Given the description of an element on the screen output the (x, y) to click on. 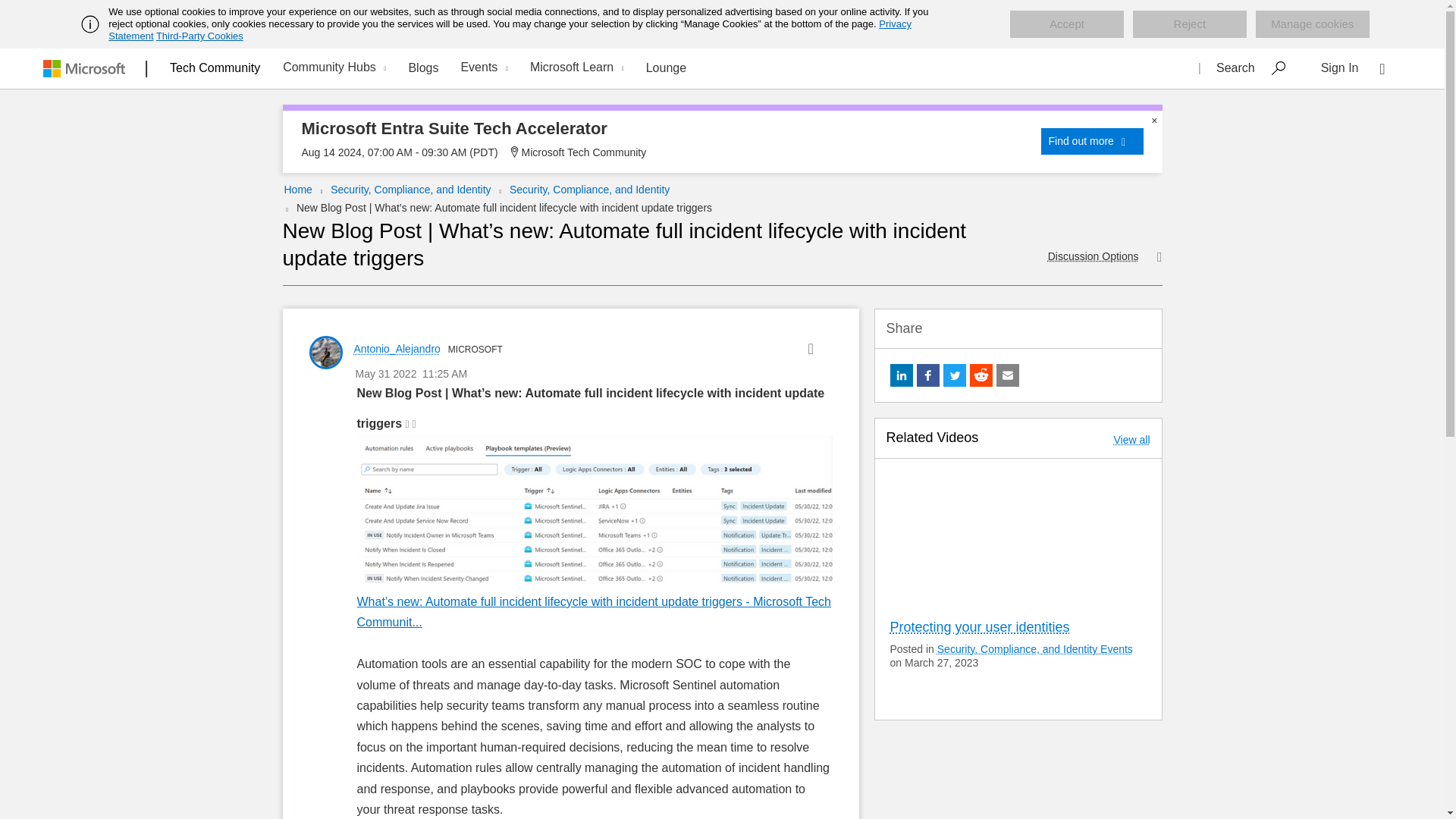
Accept (1067, 23)
Reject (1189, 23)
Manage cookies (1312, 23)
Community Hubs (332, 67)
Third-Party Cookies (199, 35)
Tech Community (215, 67)
Privacy Statement (509, 29)
